Given the description of an element on the screen output the (x, y) to click on. 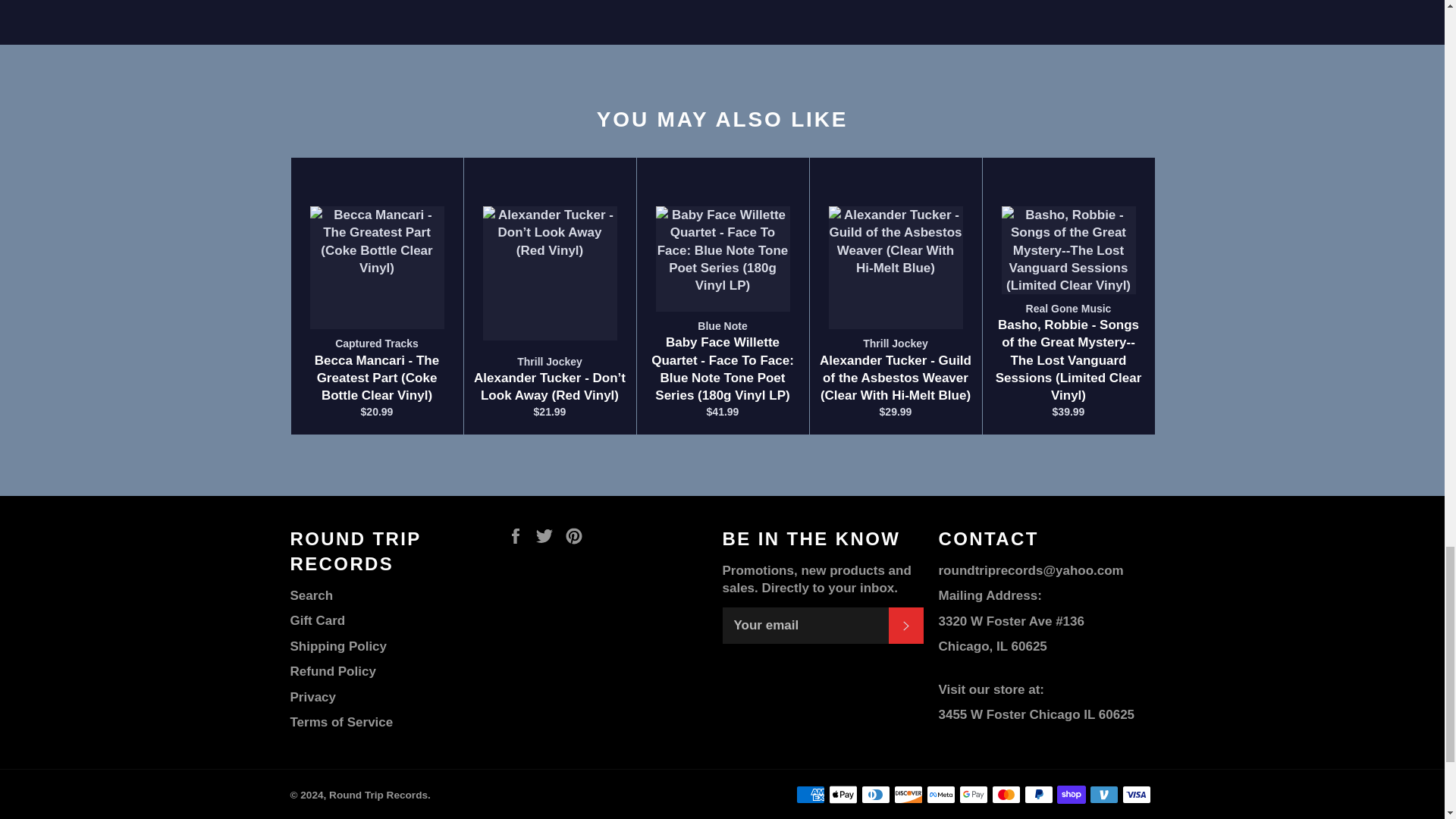
Round Trip Records on Twitter (547, 535)
Round Trip Records on Pinterest (577, 535)
Round Trip Records on Facebook (519, 535)
